Given the description of an element on the screen output the (x, y) to click on. 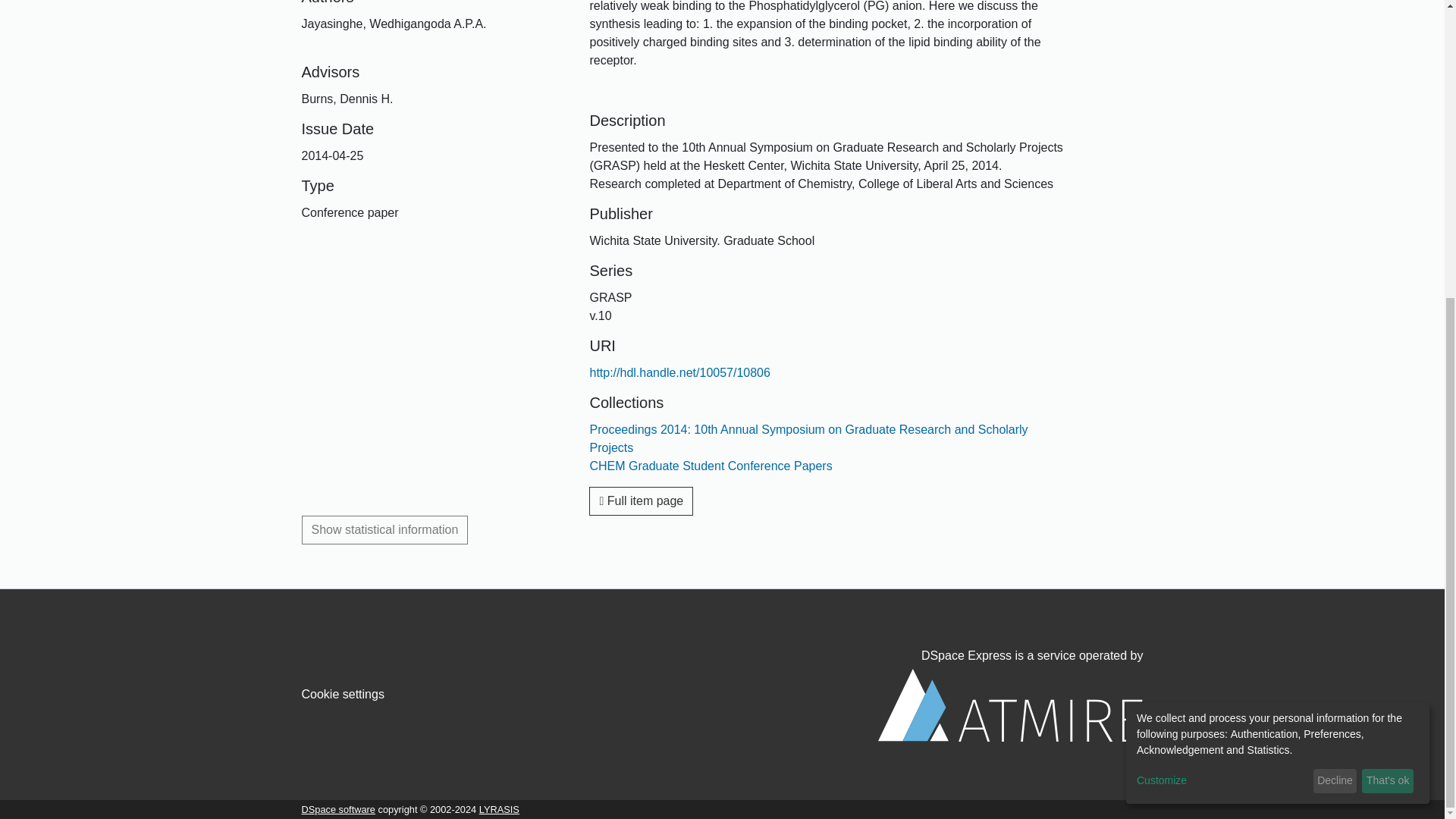
DSpace Express is a service operated by (1009, 695)
LYRASIS (499, 808)
Show statistical information (384, 529)
That's ok (1387, 320)
Decline (1334, 320)
Customize (1222, 320)
DSpace software (338, 808)
Cookie settings (342, 694)
Full item page (641, 500)
CHEM Graduate Student Conference Papers (710, 465)
